Given the description of an element on the screen output the (x, y) to click on. 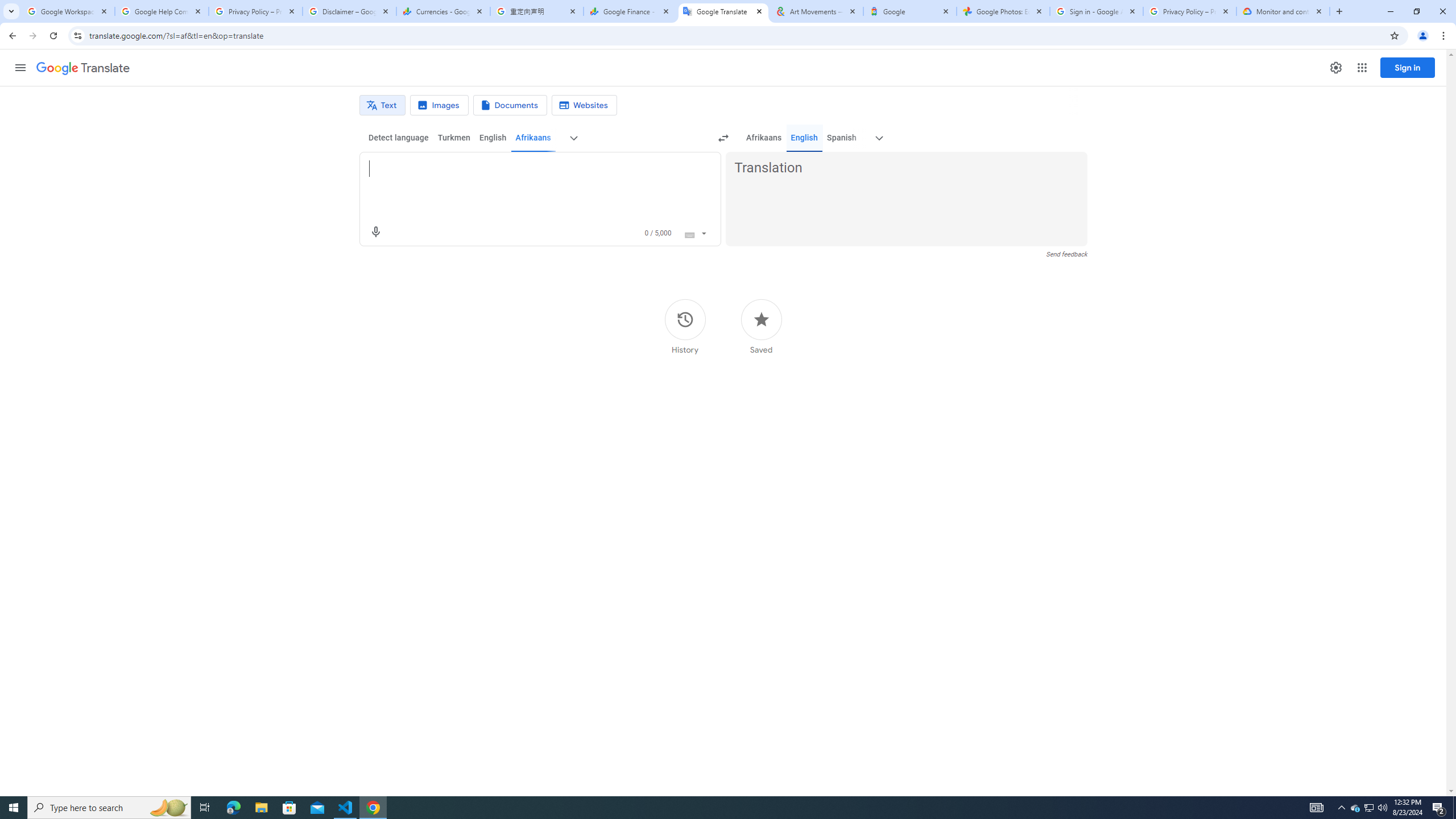
Google Translate (722, 11)
More source languages (573, 137)
English (804, 137)
Afrikaans (763, 137)
Google (909, 11)
More target languages (879, 137)
